Given the description of an element on the screen output the (x, y) to click on. 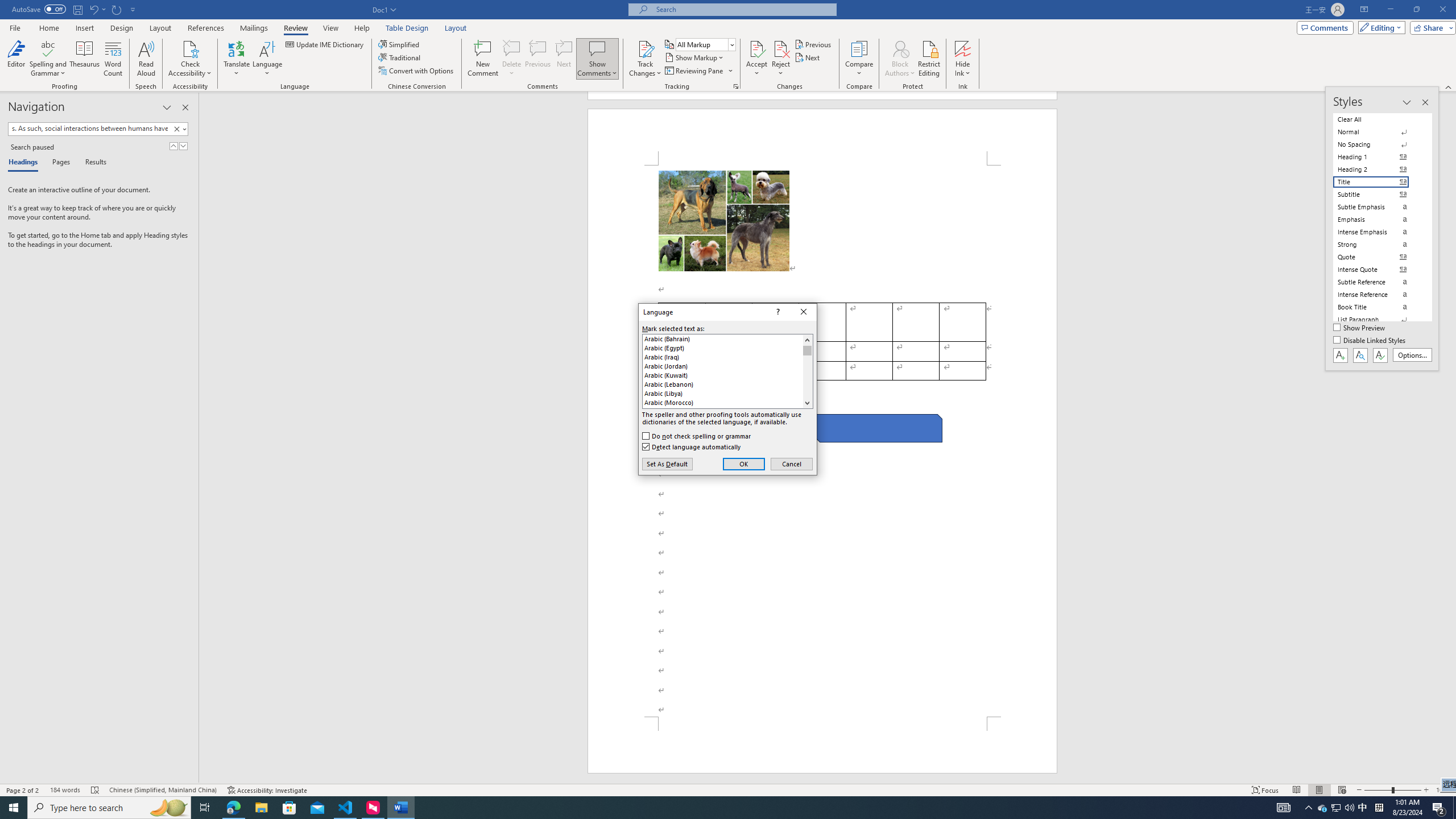
Hide Ink (962, 48)
No Spacing (1377, 144)
Strong (1377, 244)
Check Accessibility (189, 58)
Undo Style (92, 9)
Show Comments (597, 58)
Accept (756, 58)
Next (808, 56)
